Given the description of an element on the screen output the (x, y) to click on. 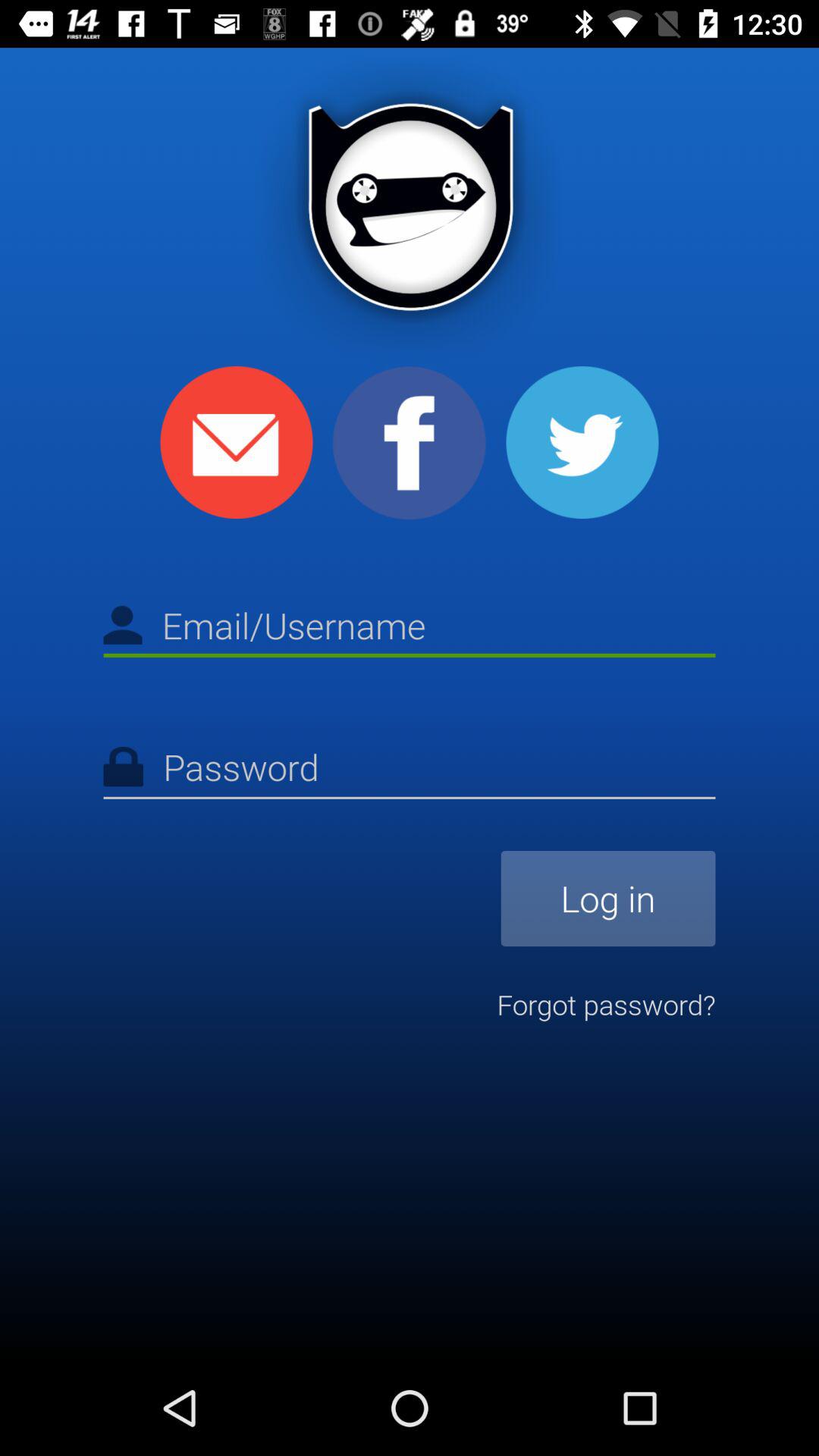
go to password (409, 769)
